Given the description of an element on the screen output the (x, y) to click on. 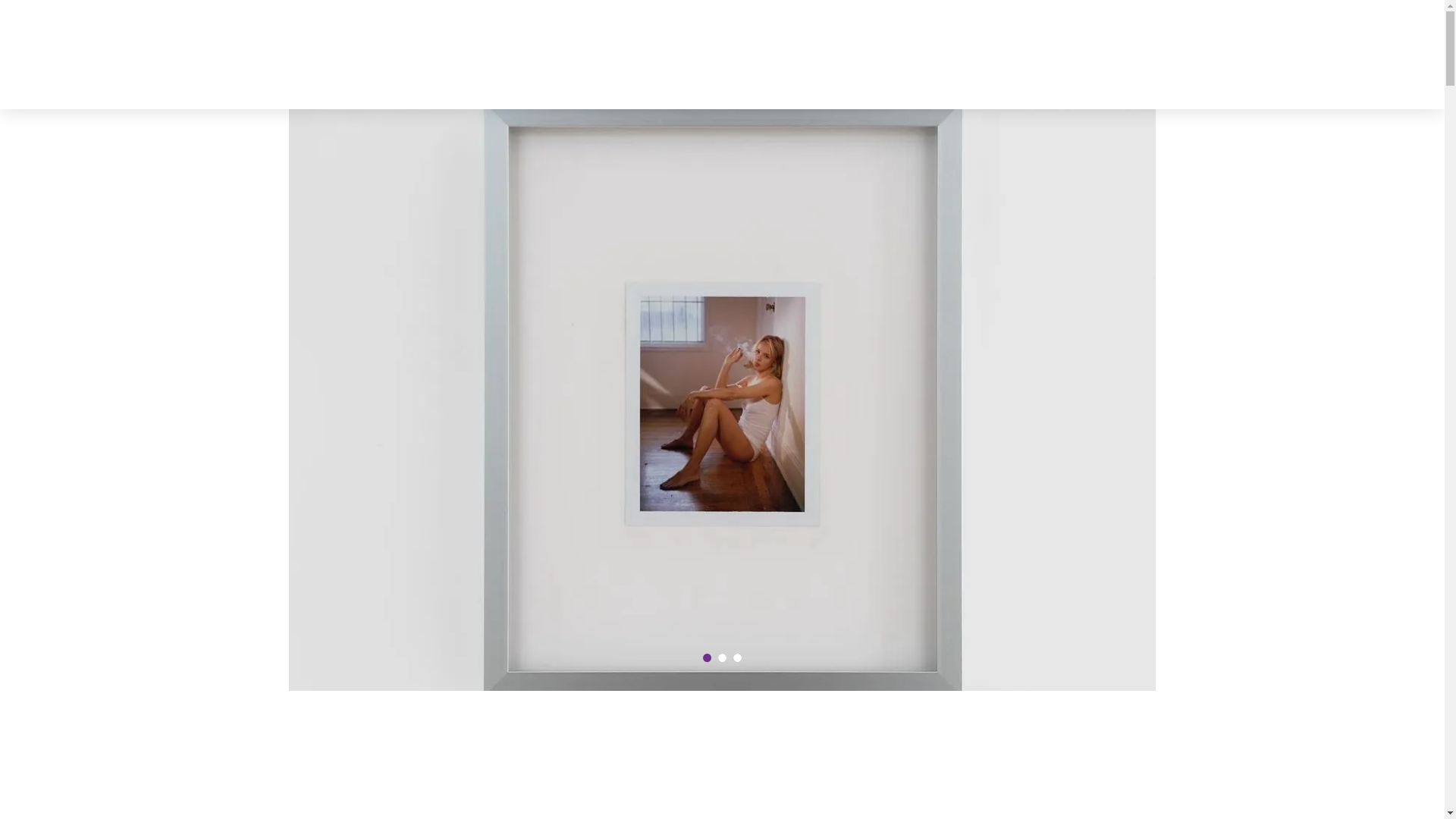
1 (710, 661)
3 (740, 661)
2 (725, 661)
